Given the description of an element on the screen output the (x, y) to click on. 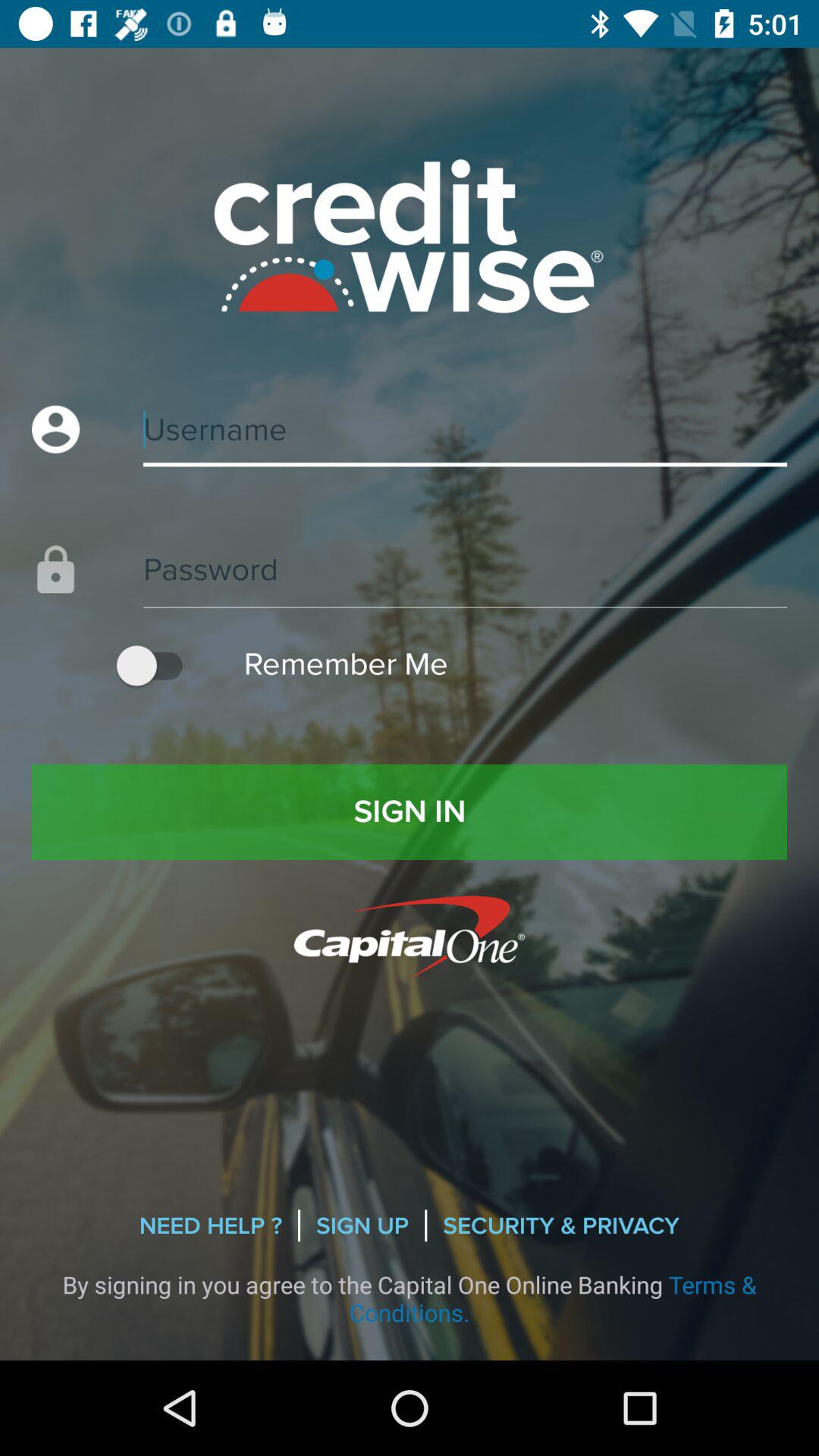
press the icon below the need help ? icon (409, 1298)
